Given the description of an element on the screen output the (x, y) to click on. 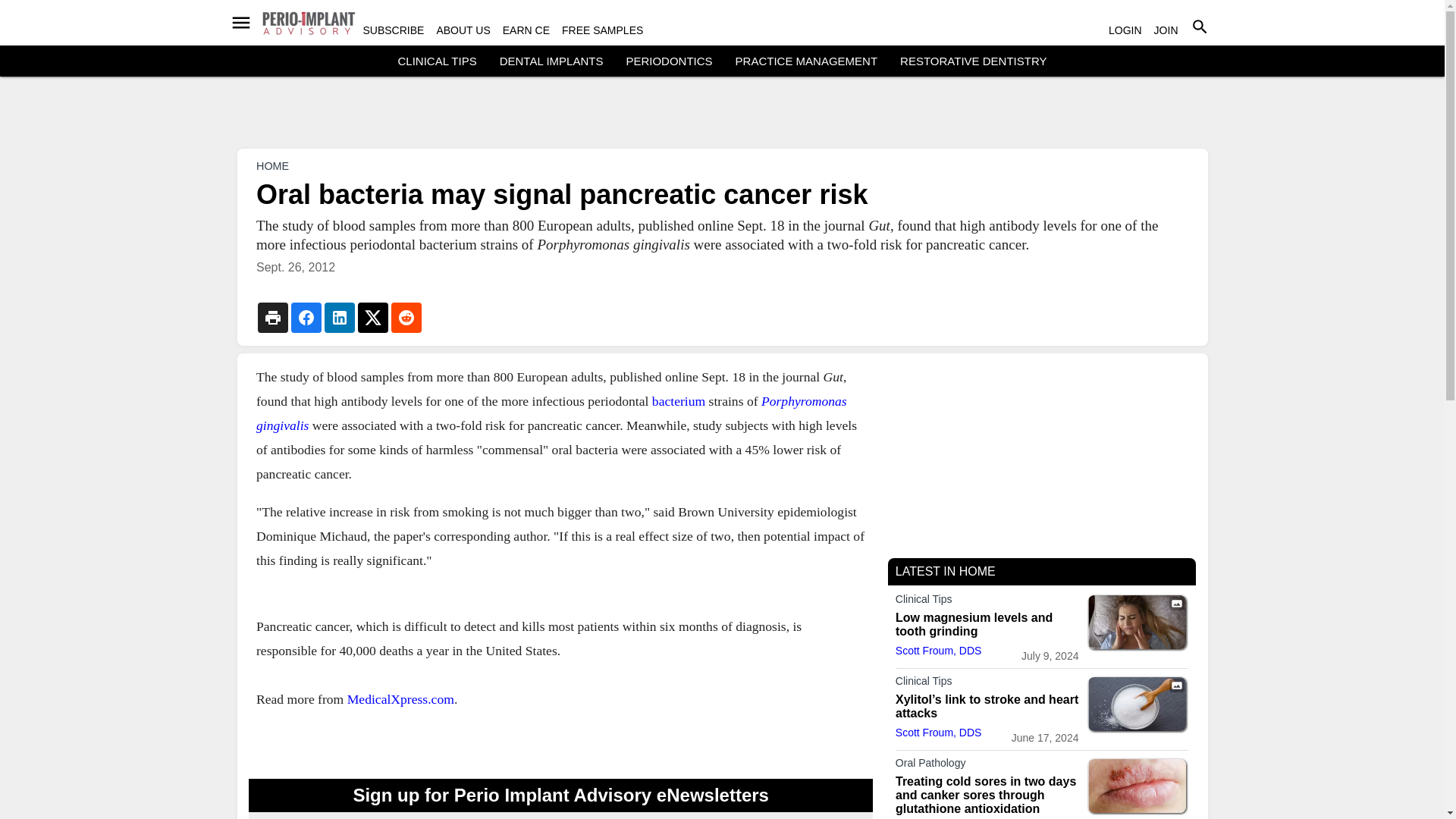
PERIODONTICS (668, 60)
JOIN (1165, 30)
EARN CE (526, 30)
FREE SAMPLES (602, 30)
RESTORATIVE DENTISTRY (972, 60)
DENTAL IMPLANTS (551, 60)
HOME (272, 165)
Low magnesium levels and tooth grinding (1136, 622)
SUBSCRIBE (392, 30)
LOGIN (1124, 30)
